Given the description of an element on the screen output the (x, y) to click on. 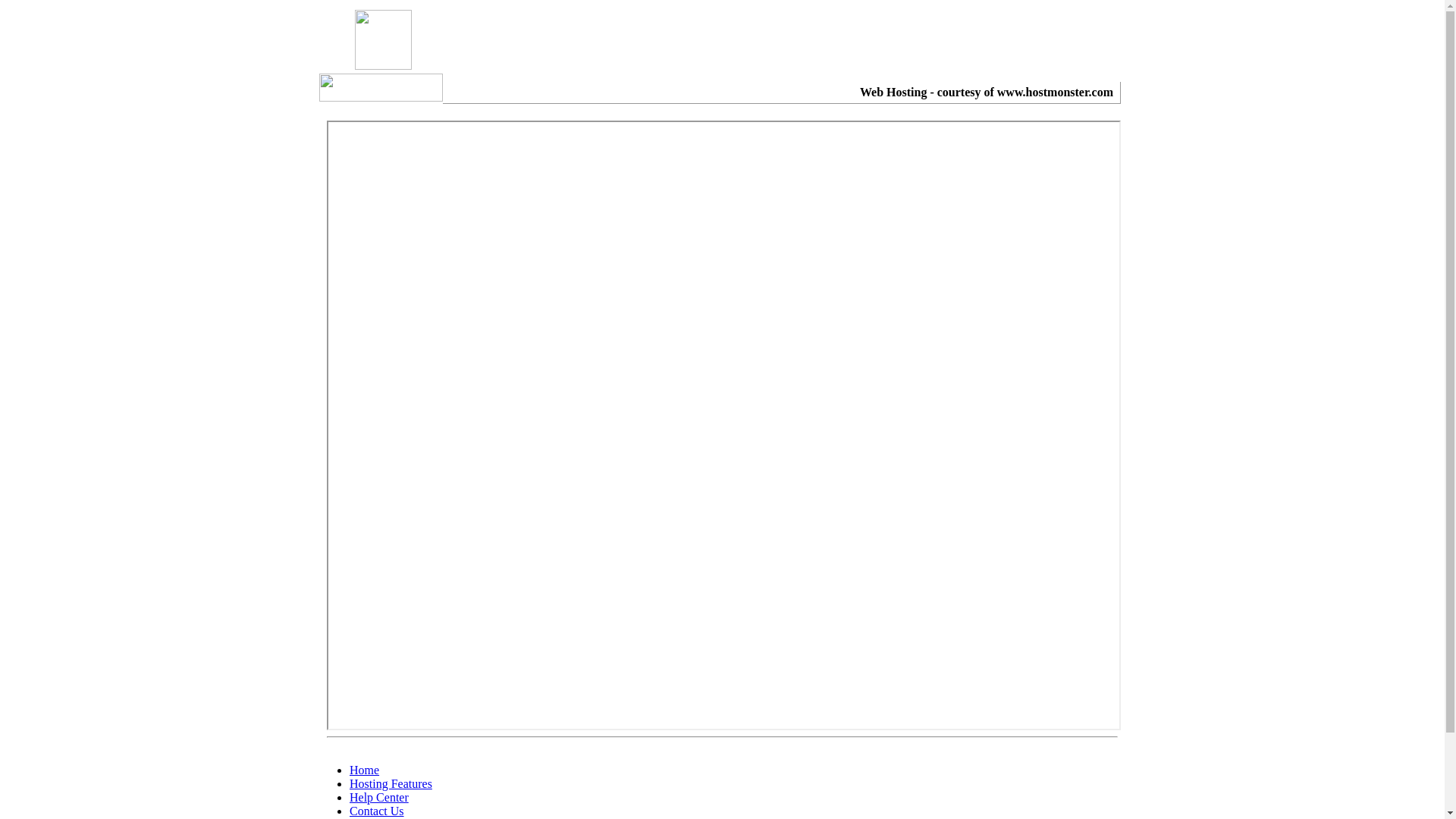
Web Hosting - courtesy of www.hostmonster.com Element type: text (986, 91)
Home Element type: text (364, 769)
Contact Us Element type: text (376, 810)
Hosting Features Element type: text (390, 783)
Help Center Element type: text (378, 796)
